Given the description of an element on the screen output the (x, y) to click on. 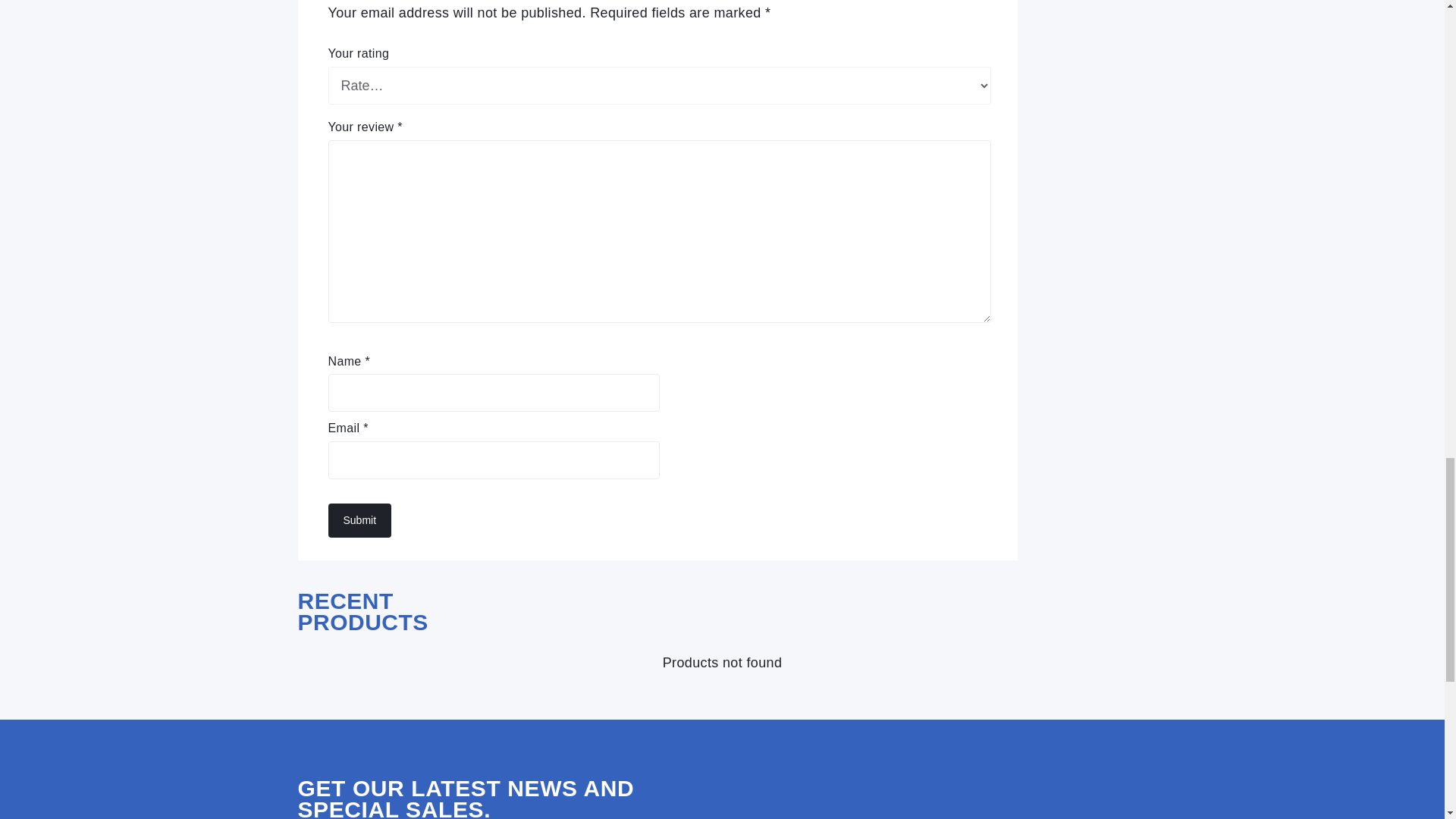
Submit (359, 520)
